Given the description of an element on the screen output the (x, y) to click on. 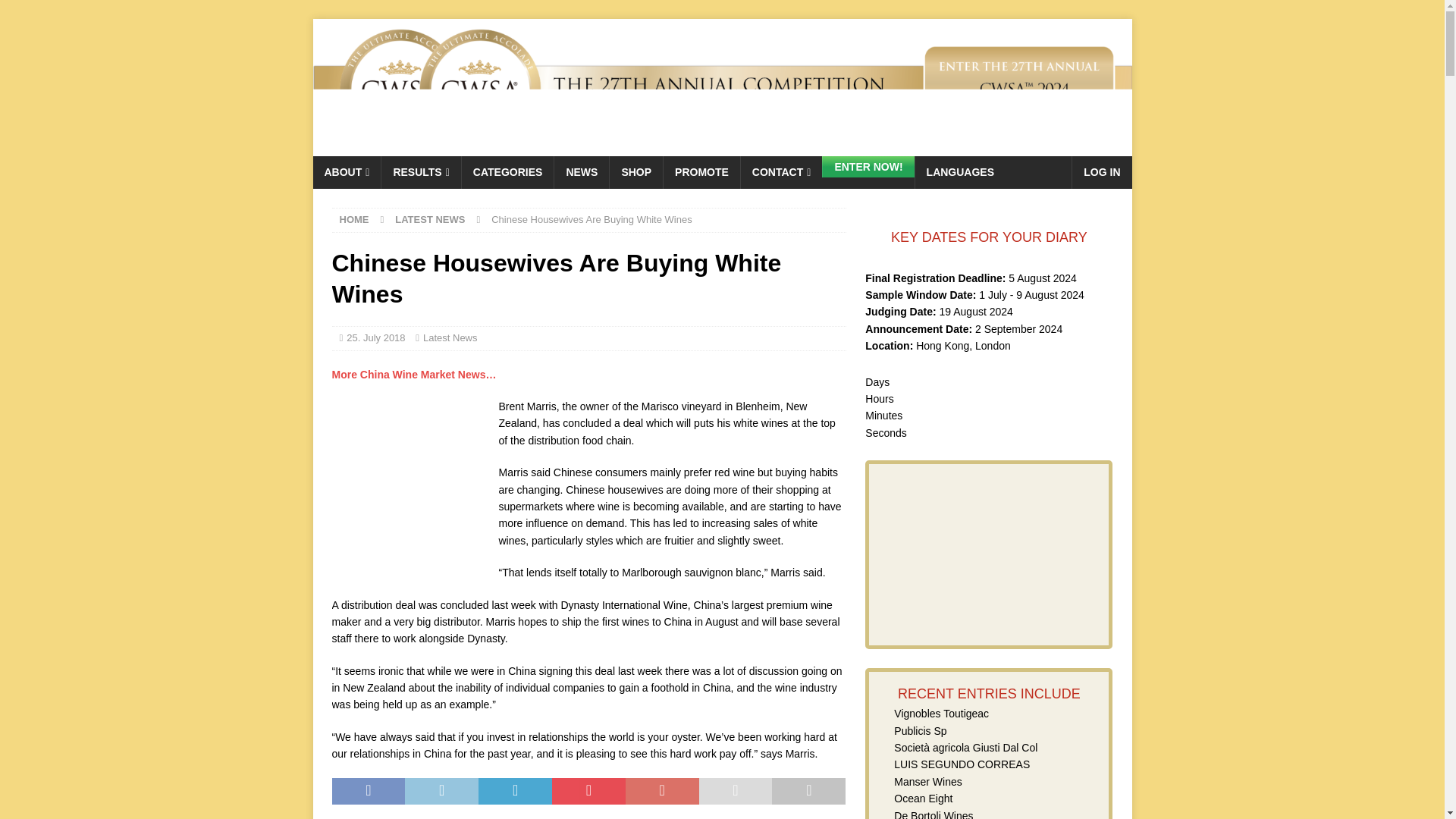
SHOP (635, 172)
PROMOTE (700, 172)
CATEGORIES (507, 172)
ABOUT (346, 172)
NEWS (580, 172)
RESULTS (420, 172)
CONTACT (780, 172)
CWSA (722, 147)
